Given the description of an element on the screen output the (x, y) to click on. 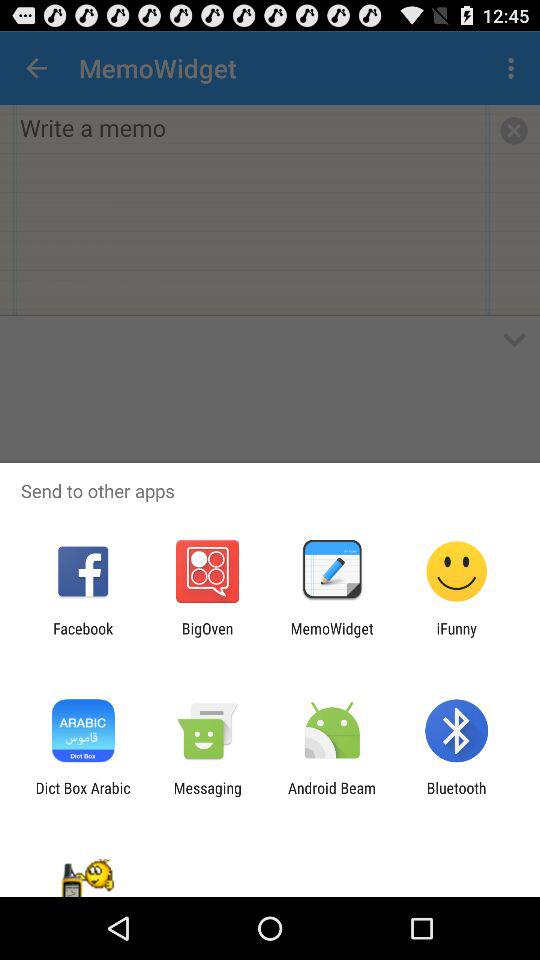
select the bluetooth (456, 796)
